Given the description of an element on the screen output the (x, y) to click on. 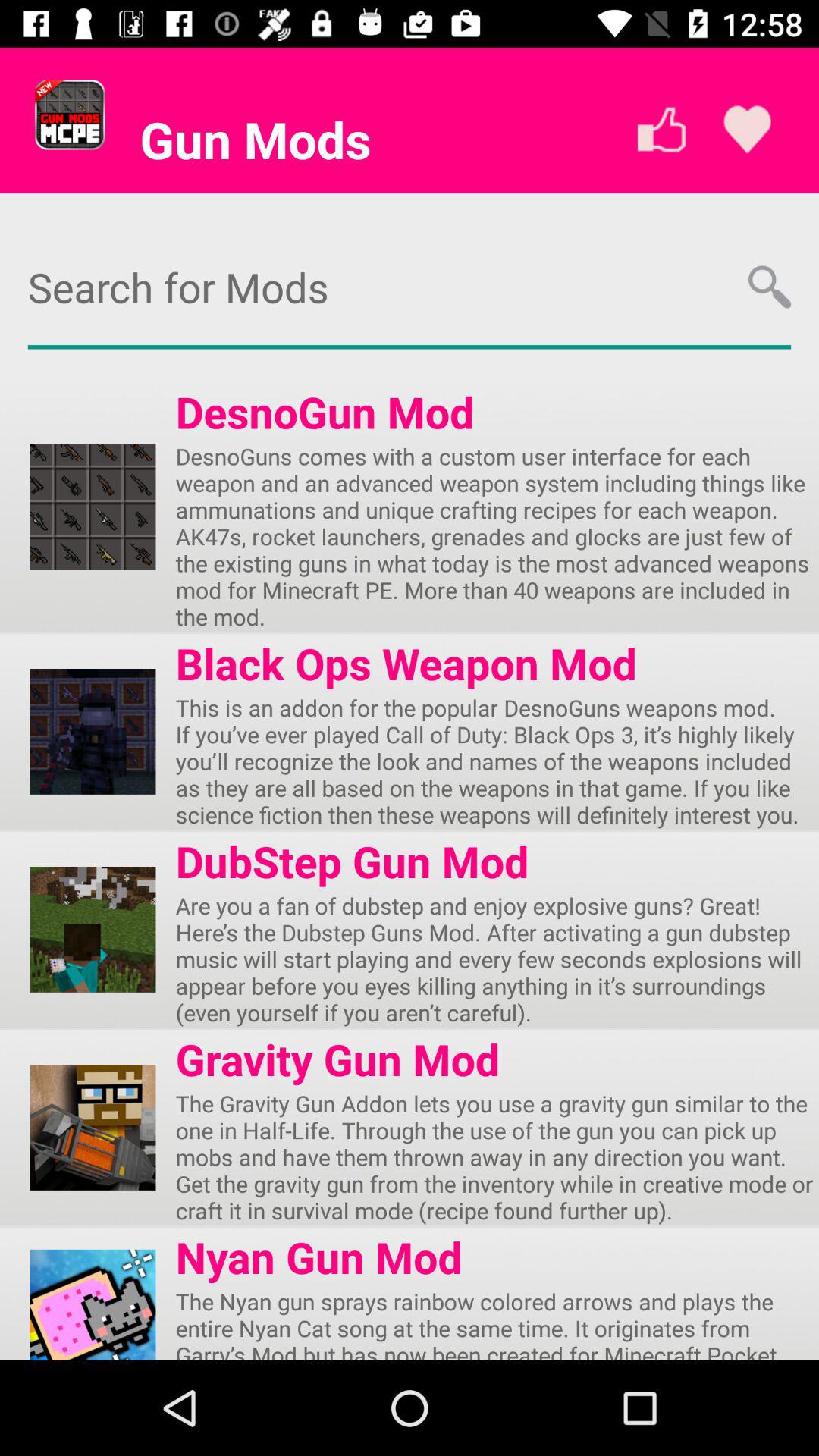
press the app below the black ops weapon item (497, 760)
